Given the description of an element on the screen output the (x, y) to click on. 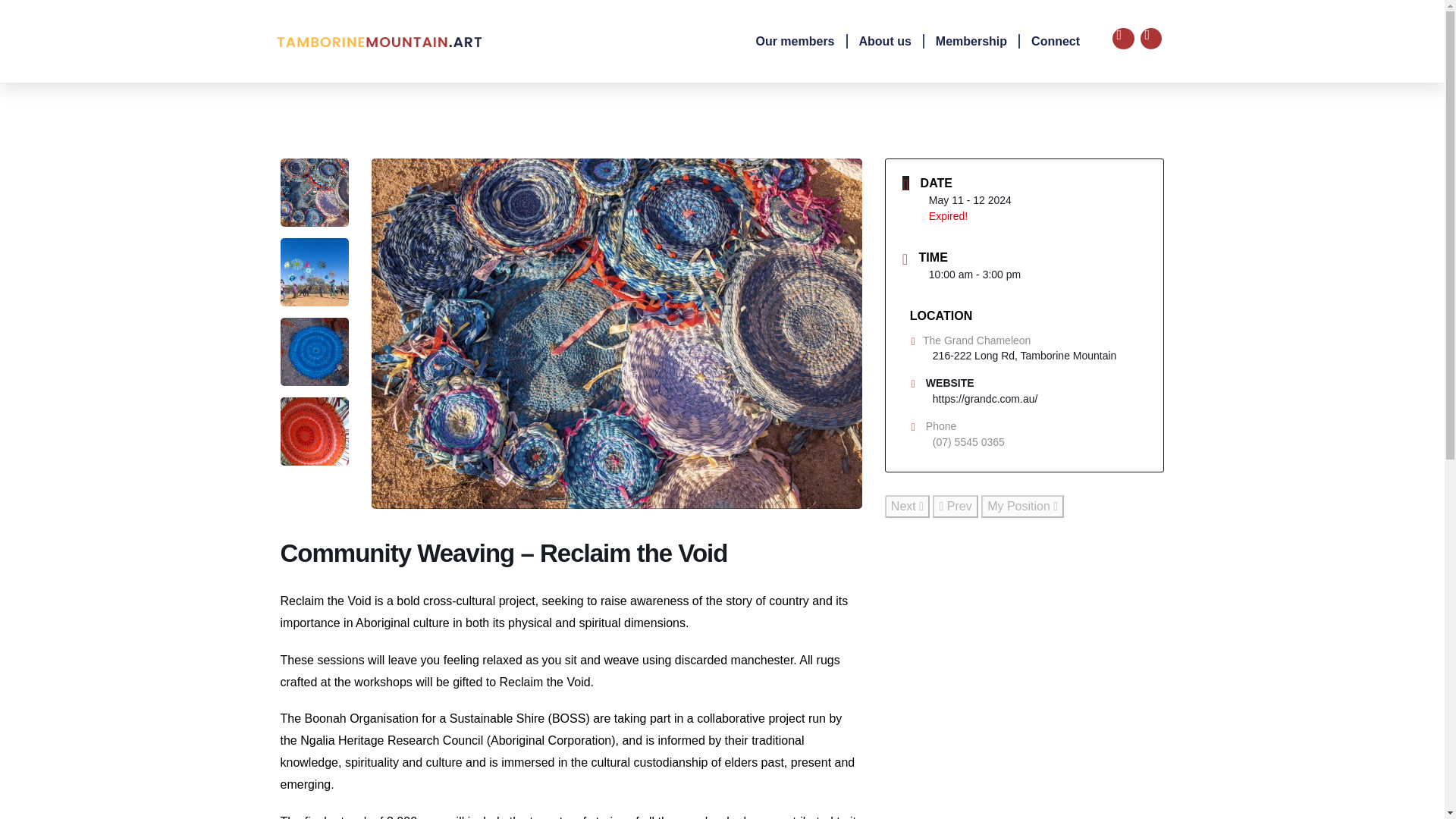
My Position (1022, 506)
Membership (971, 41)
Our members (794, 41)
Next (907, 506)
Prev (954, 506)
